Given the description of an element on the screen output the (x, y) to click on. 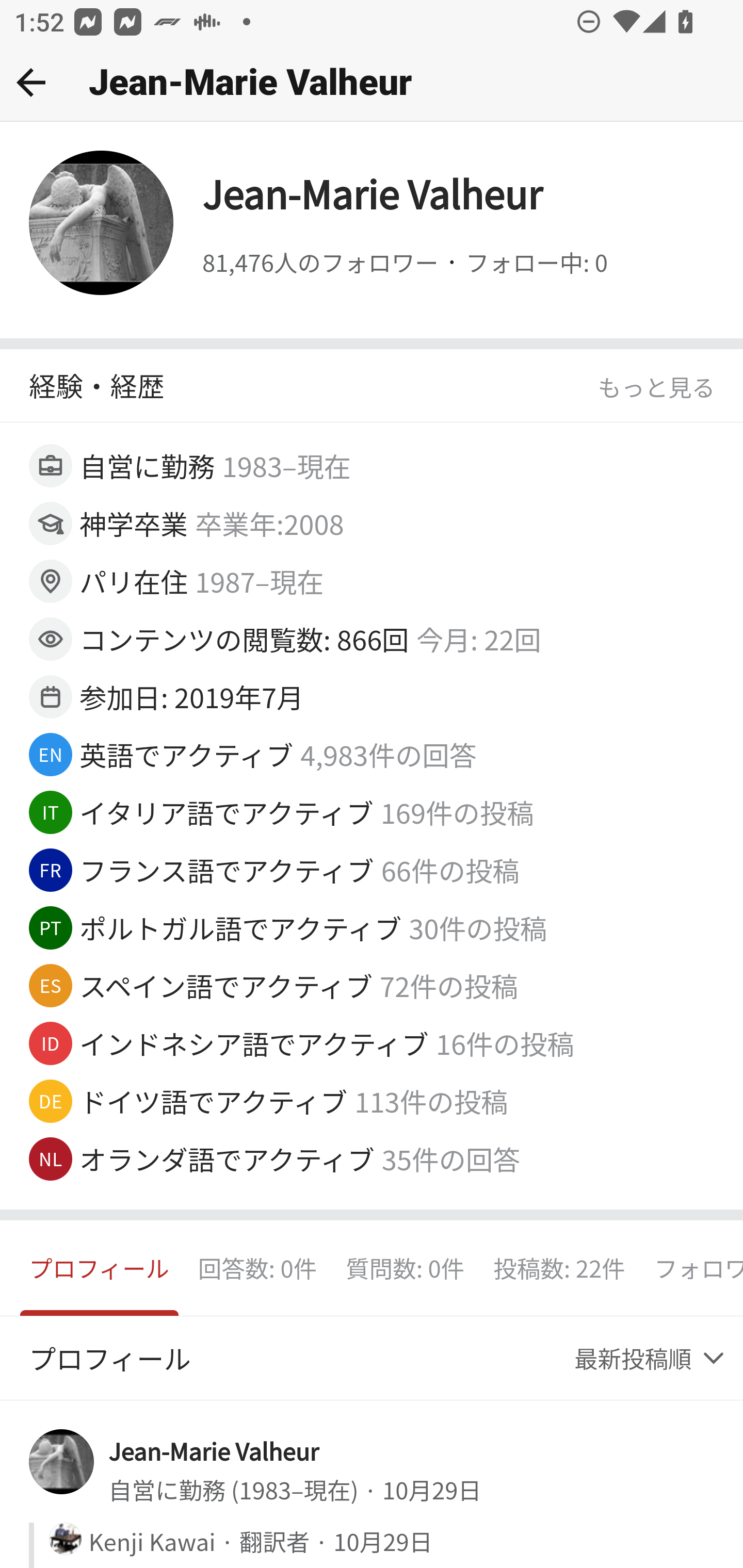
Back (30, 82)
81,476人のフォロワー (320, 262)
フォロー中: 0 (535, 262)
もっと見る (655, 386)
英語でアクティブ 英語 でアクティブ (186, 753)
イタリア語でアクティブ イタリア語 でアクティブ (226, 811)
フランス語でアクティブ フランス語 でアクティブ (227, 869)
ポルトガル語でアクティブ ポルトガル語 でアクティブ (240, 927)
スペイン語でアクティブ スペイン語 でアクティブ (226, 985)
インドネシア語でアクティブ インドネシア語 でアクティブ (254, 1043)
ドイツ語でアクティブ ドイツ語 でアクティブ (213, 1100)
オランダ語でアクティブ オランダ語 でアクティブ (227, 1158)
プロフィール (99, 1268)
回答数: 0件 (257, 1268)
質問数: 0件 (404, 1268)
投稿数: 22件 (559, 1268)
フォロワー数: 8.1万人 (690, 1268)
最新投稿順 (650, 1358)
Jean-Marie Valheurさんのプロフィール写真 (61, 1461)
Jean-Marie Valheur (213, 1449)
Kenji Kawaiさんのプロフィール写真 (64, 1539)
